Given the description of an element on the screen output the (x, y) to click on. 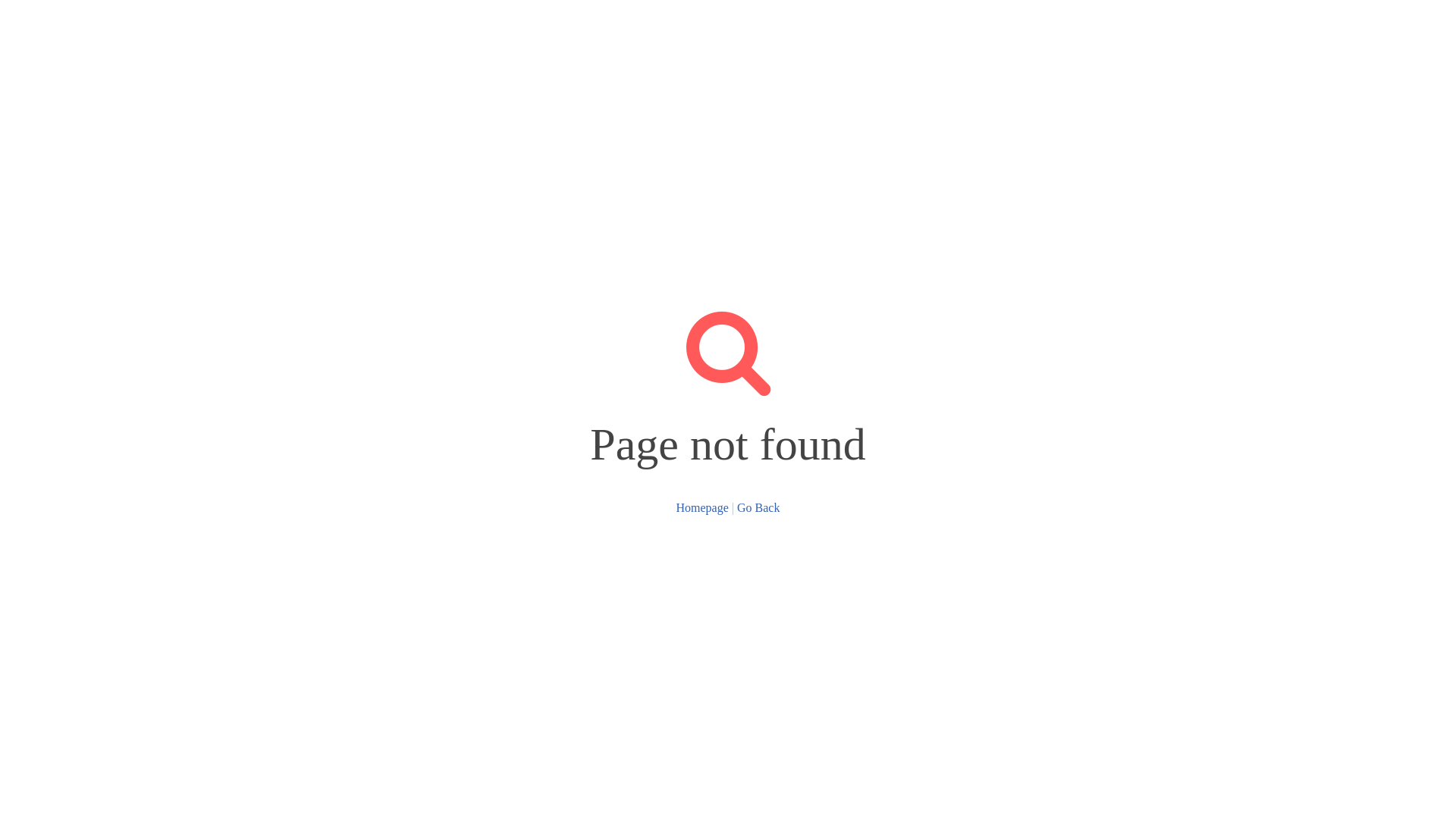
Go Back Element type: text (758, 506)
Homepage Element type: text (702, 506)
